Given the description of an element on the screen output the (x, y) to click on. 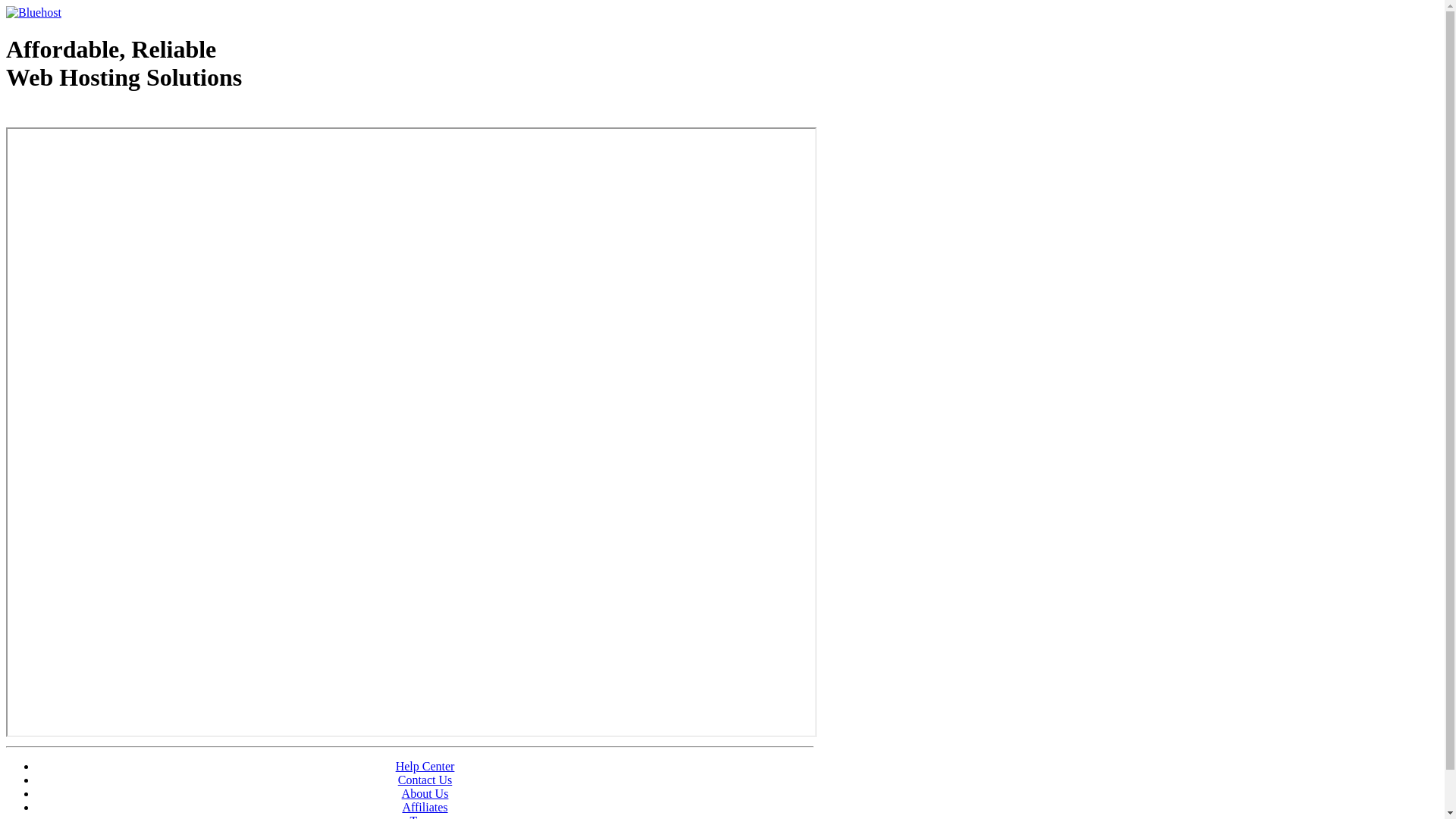
Contact Us Element type: text (425, 779)
Web Hosting - courtesy of www.bluehost.com Element type: text (94, 115)
About Us Element type: text (424, 793)
Help Center Element type: text (425, 765)
Affiliates Element type: text (424, 806)
